Given the description of an element on the screen output the (x, y) to click on. 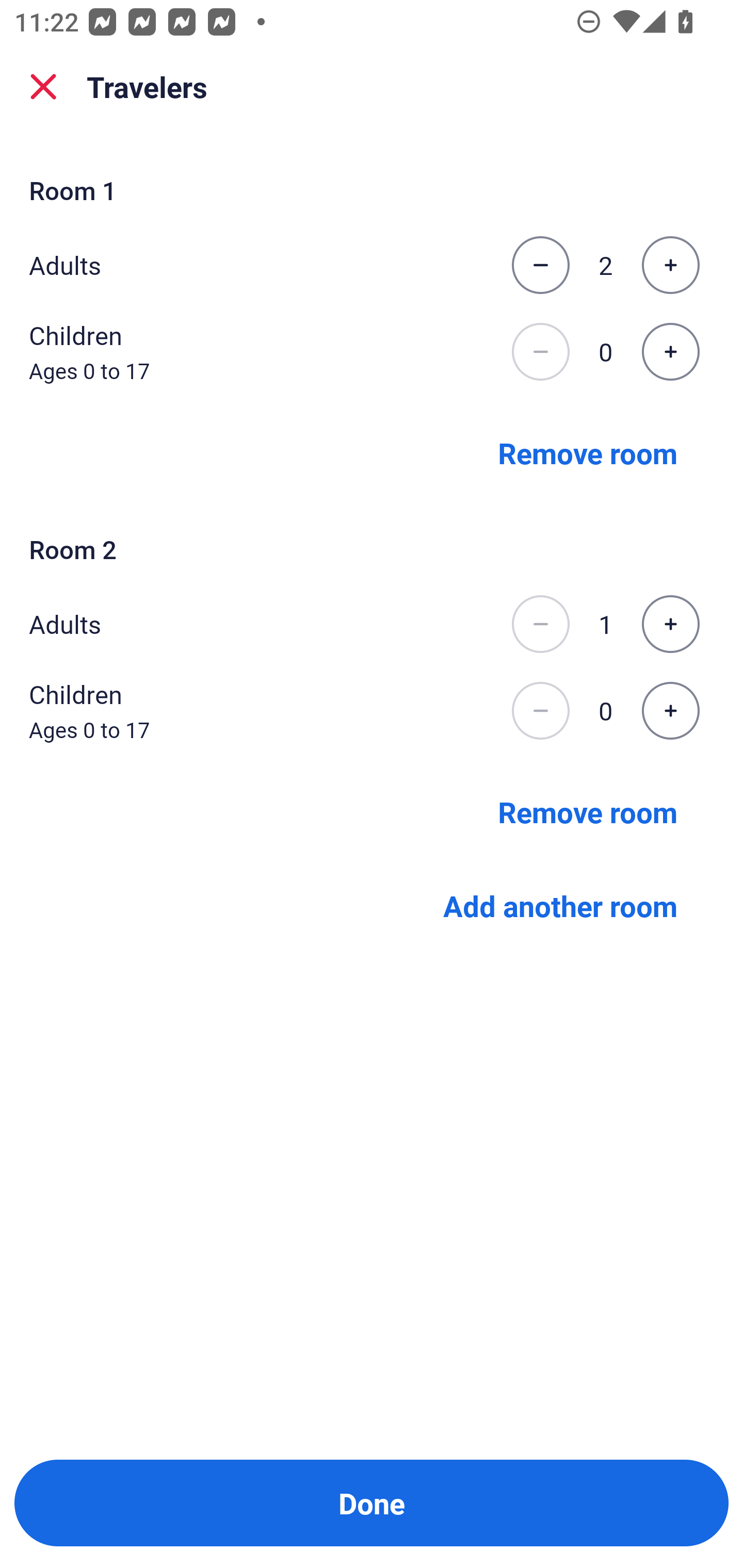
close (43, 86)
Decrease the number of adults (540, 264)
Increase the number of adults (670, 264)
Decrease the number of children (540, 351)
Increase the number of children (670, 351)
Remove room (588, 452)
Decrease the number of adults (540, 623)
Increase the number of adults (670, 623)
Decrease the number of children (540, 710)
Increase the number of children (670, 710)
Remove room (588, 811)
Add another room (560, 905)
Done (371, 1502)
